Given the description of an element on the screen output the (x, y) to click on. 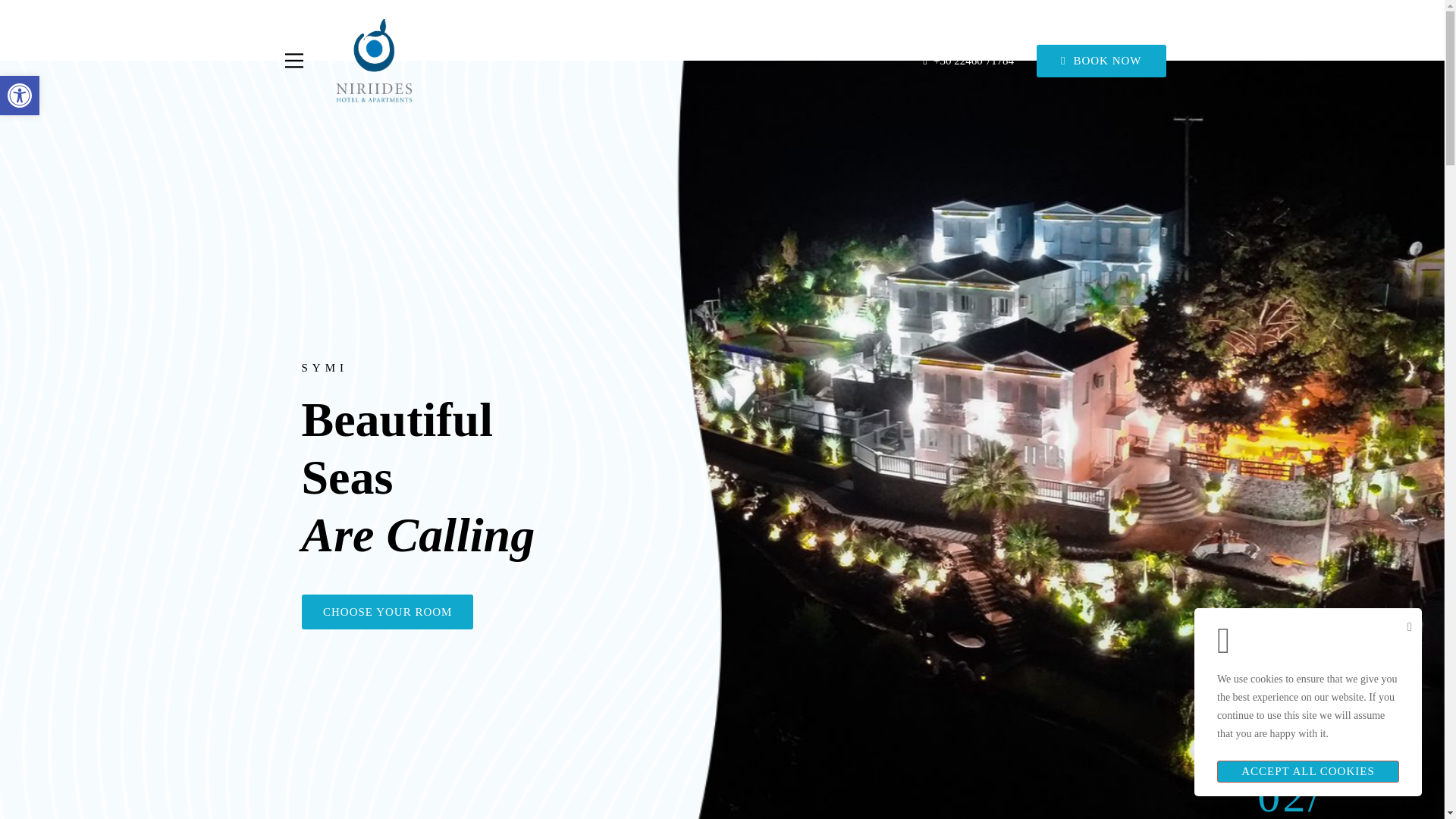
CHOOSE YOUR ROOM (19, 95)
Accessibility Tools (387, 611)
Accessibility Tools (19, 95)
Niriides Hotel (19, 95)
BOOK NOW (372, 60)
